Given the description of an element on the screen output the (x, y) to click on. 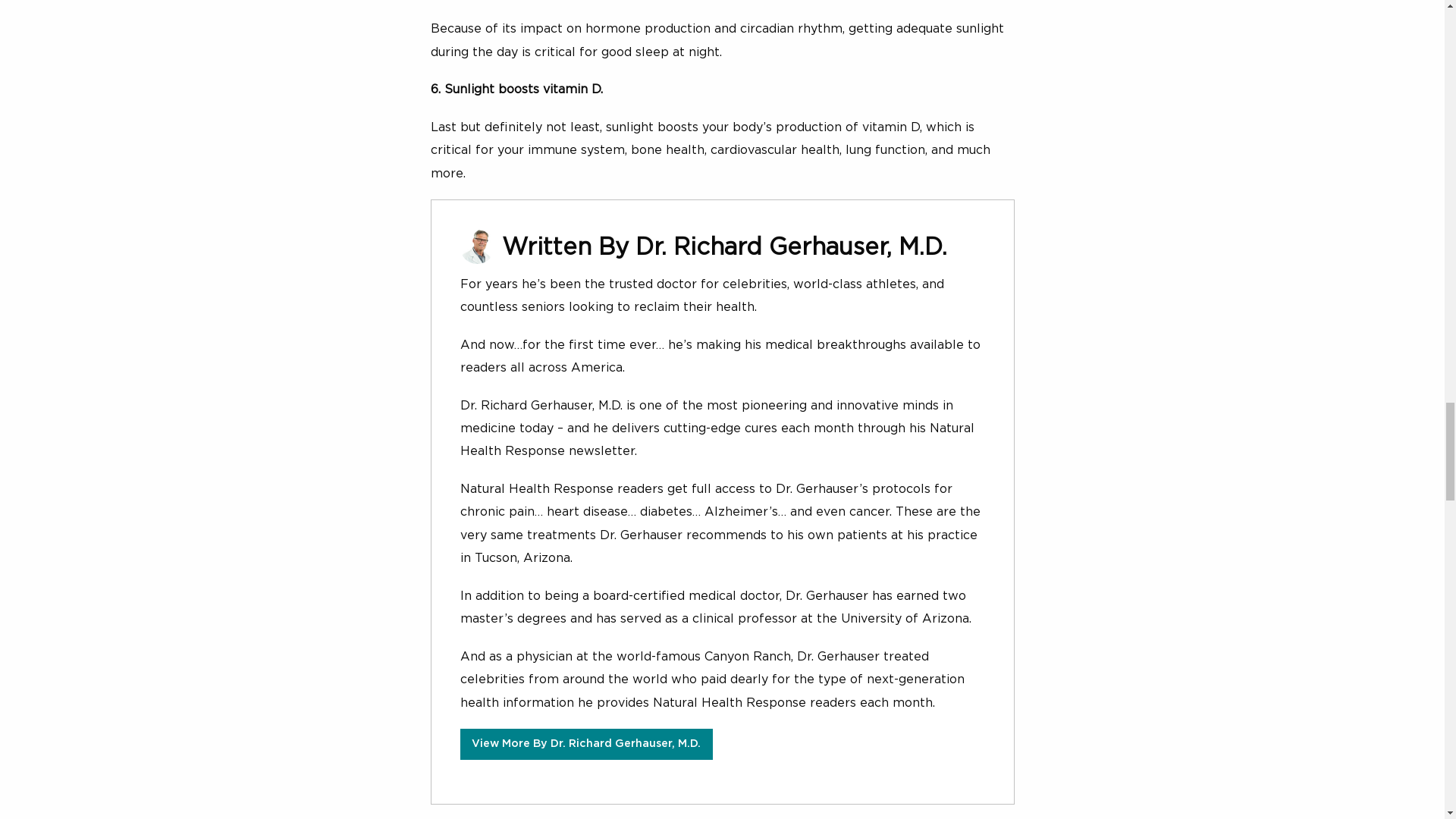
View More By Dr. Richard Gerhauser, M.D. (586, 744)
